Given the description of an element on the screen output the (x, y) to click on. 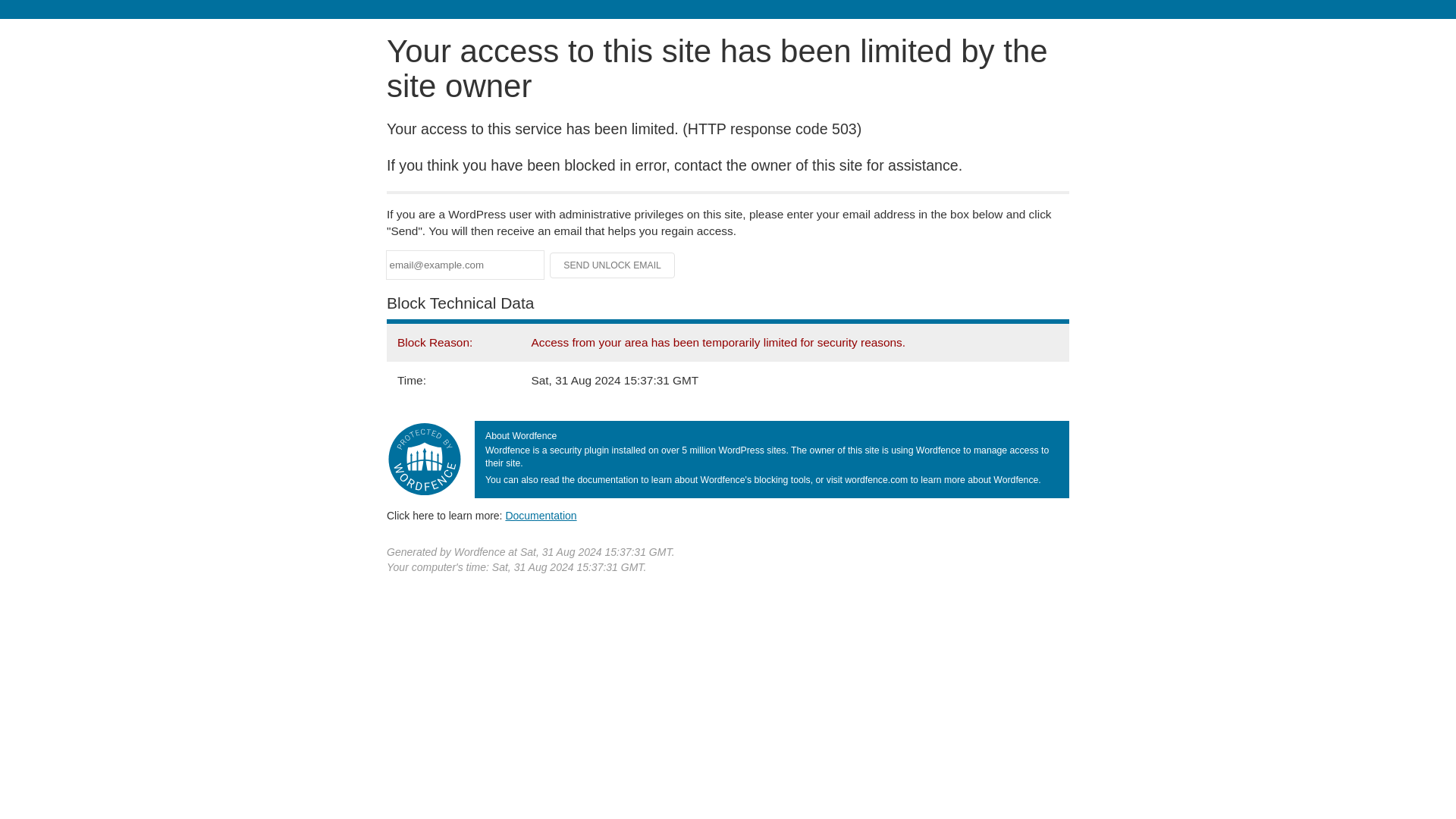
Send Unlock Email (612, 265)
Send Unlock Email (612, 265)
Documentation (540, 515)
